Given the description of an element on the screen output the (x, y) to click on. 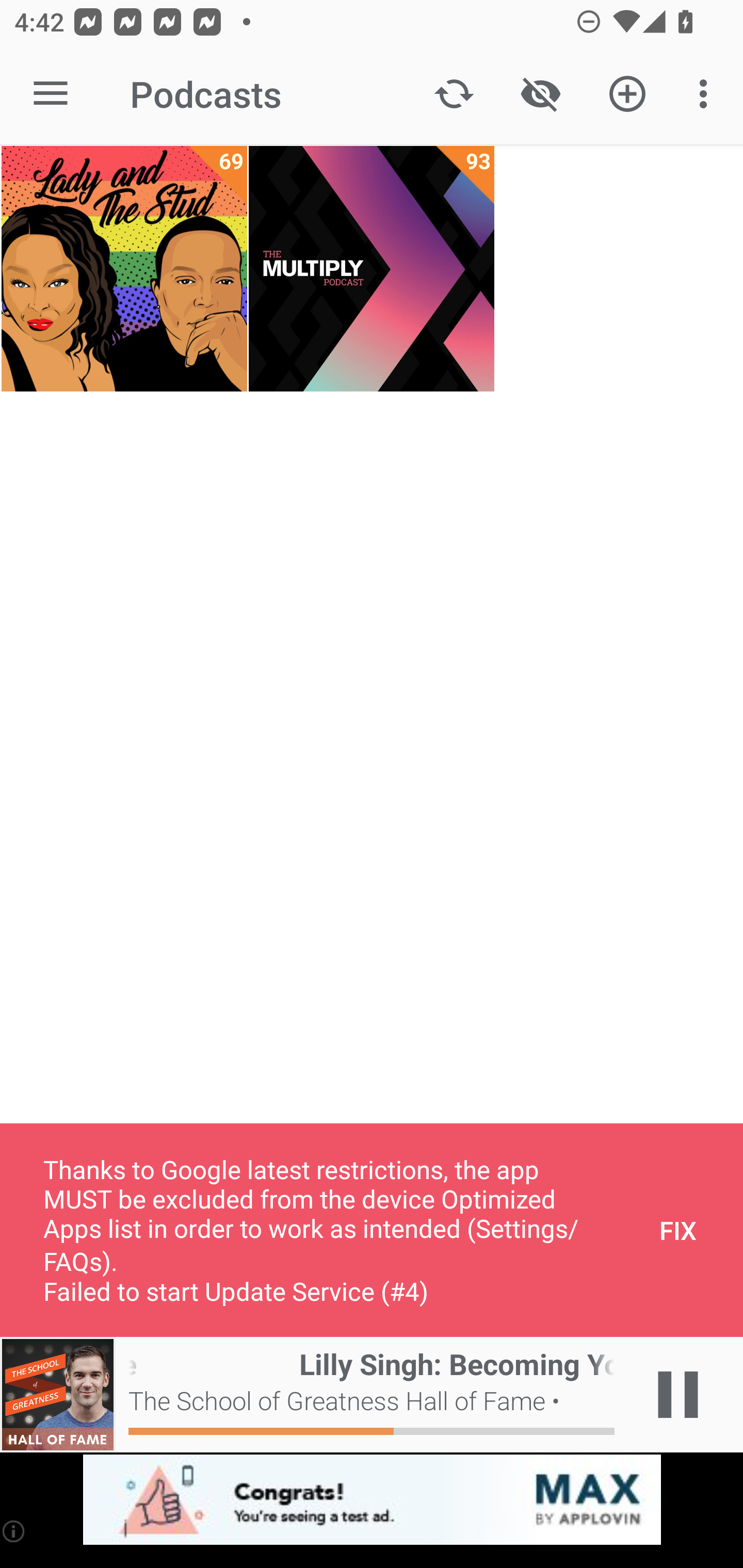
Open navigation sidebar (50, 93)
Update (453, 93)
Show / Hide played content (540, 93)
Add new Podcast (626, 93)
More options (706, 93)
Lady and The Stud 69 (124, 268)
The Multiply Podcast 93 (371, 268)
FIX (677, 1229)
Play / Pause (677, 1394)
app-monetization (371, 1500)
(i) (14, 1531)
